Given the description of an element on the screen output the (x, y) to click on. 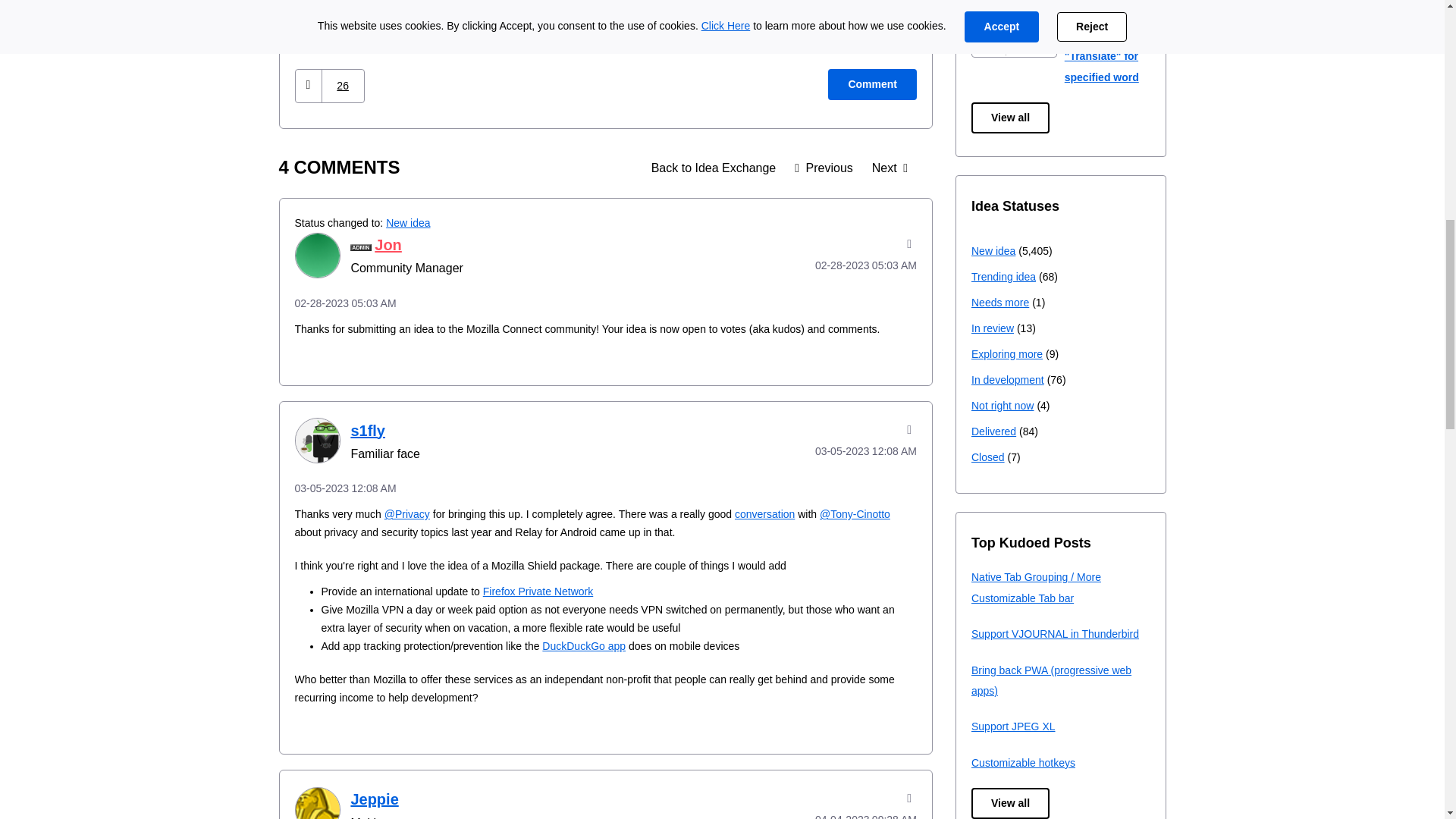
Design (317, 10)
Password (489, 10)
Mobile (429, 10)
A backup button that saves the current state of bookmarks (823, 167)
Posted on (605, 303)
Click here to see who gave kudos to this post. (342, 85)
Relay (546, 10)
Ideas (714, 167)
Posted on (845, 265)
Jon (316, 255)
